Given the description of an element on the screen output the (x, y) to click on. 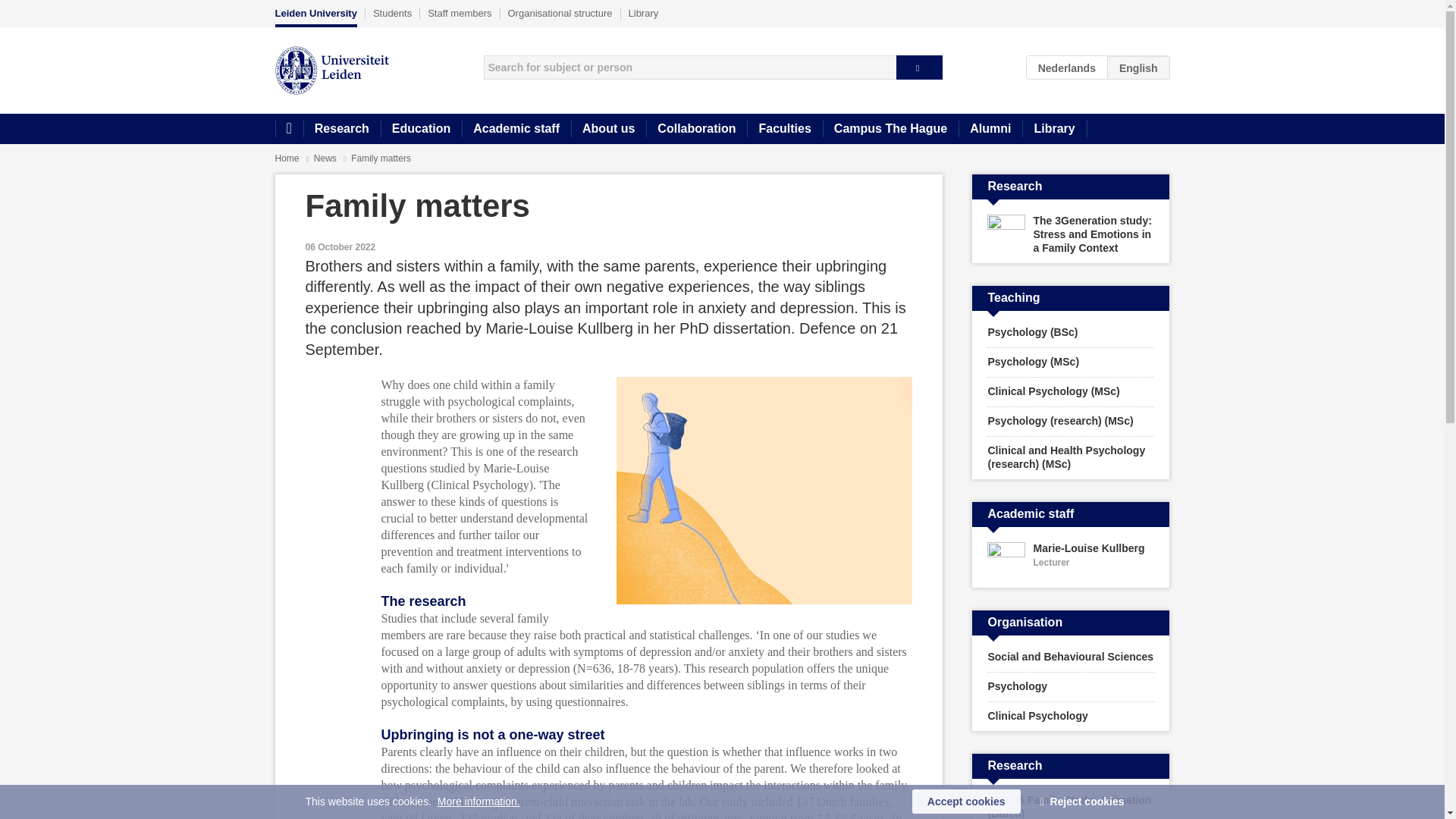
Staff members (460, 13)
NL (1067, 67)
Education (420, 128)
Collaboration (696, 128)
Home (288, 128)
Organisational structure (560, 13)
Campus The Hague (890, 128)
Library (1054, 128)
Faculties (784, 128)
